Given the description of an element on the screen output the (x, y) to click on. 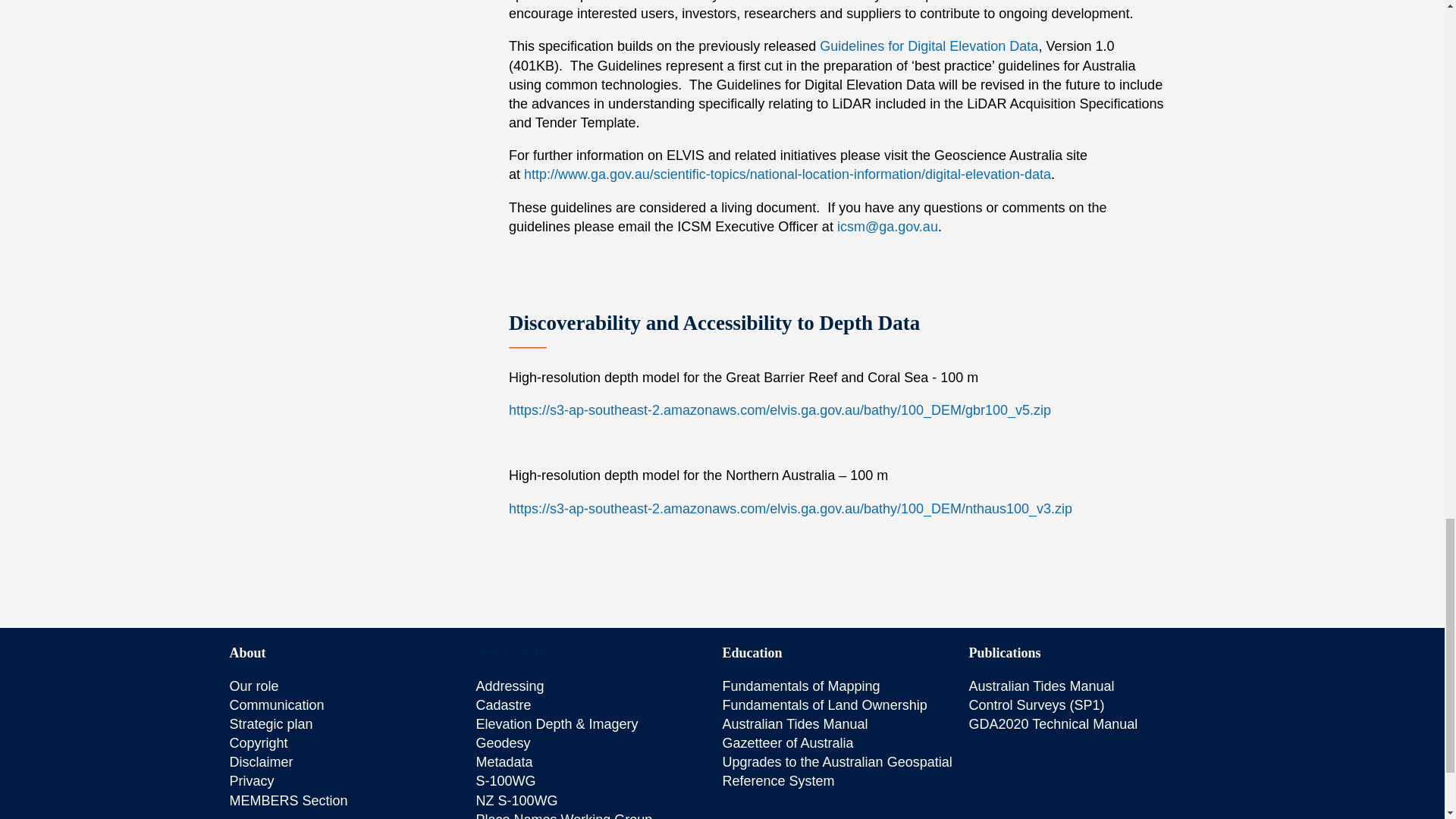
Cadastre Working Group (503, 704)
Geodesy (503, 743)
Metadata Working Group (504, 761)
ICSM-GuidelinesDigitalElevationDataV1.pdf (928, 46)
Elevation, Depth and Imagery Working Group (557, 724)
Addressing (510, 685)
S-100 Working Group (505, 780)
